Given the description of an element on the screen output the (x, y) to click on. 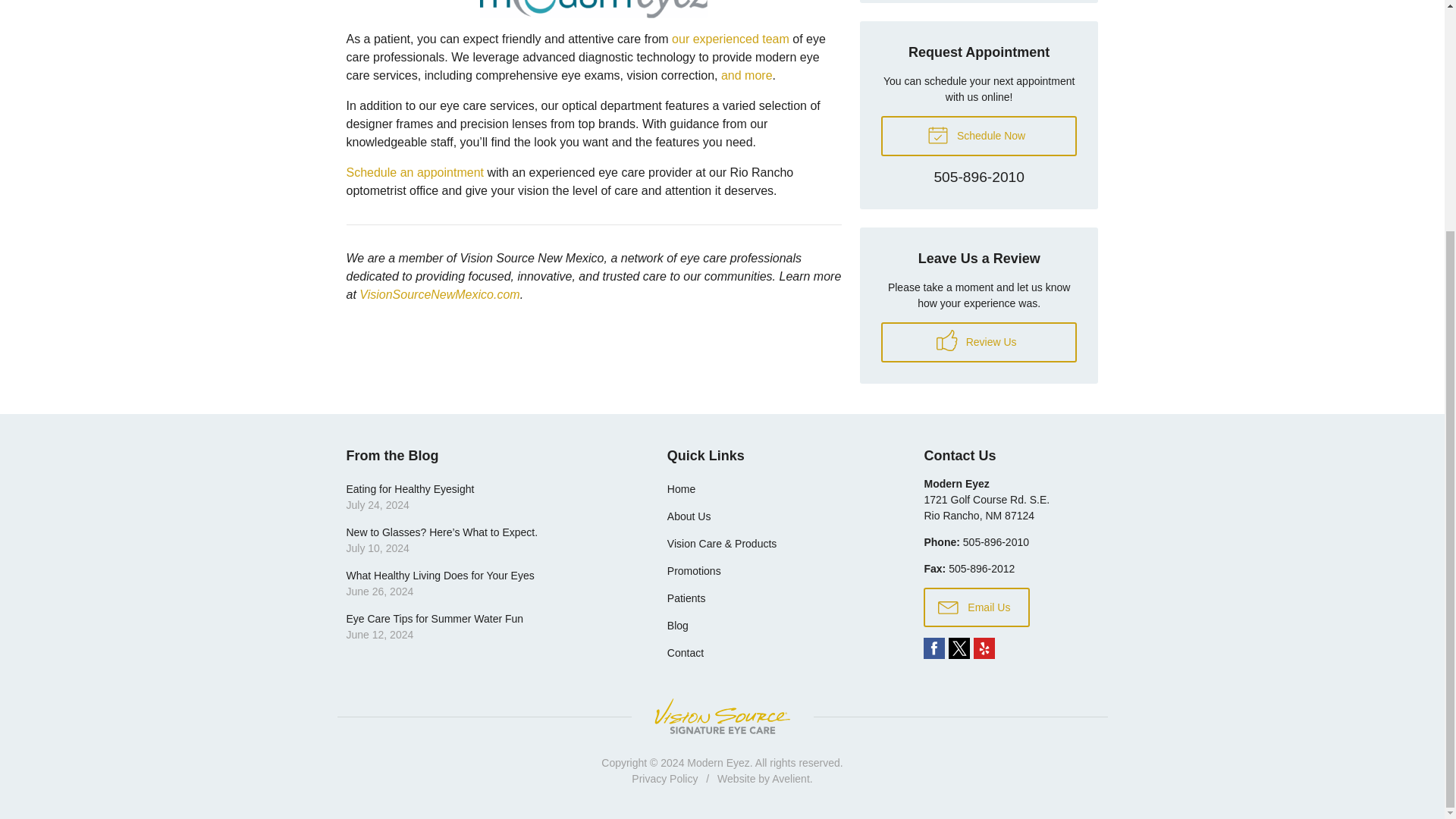
Call practice (979, 177)
Open this address in Google Maps (986, 507)
Schedule Now (978, 136)
Review Us (978, 342)
Go to our Twitter Account (959, 648)
Go to our Yelp Page (984, 648)
and more (485, 496)
Schedule Now (746, 74)
Contact practice (978, 136)
our experienced team (995, 541)
Go to our Facebook Page (730, 38)
505-896-2010 (933, 648)
Leave Us A Review (979, 177)
Powered by Avelient (978, 342)
